Given the description of an element on the screen output the (x, y) to click on. 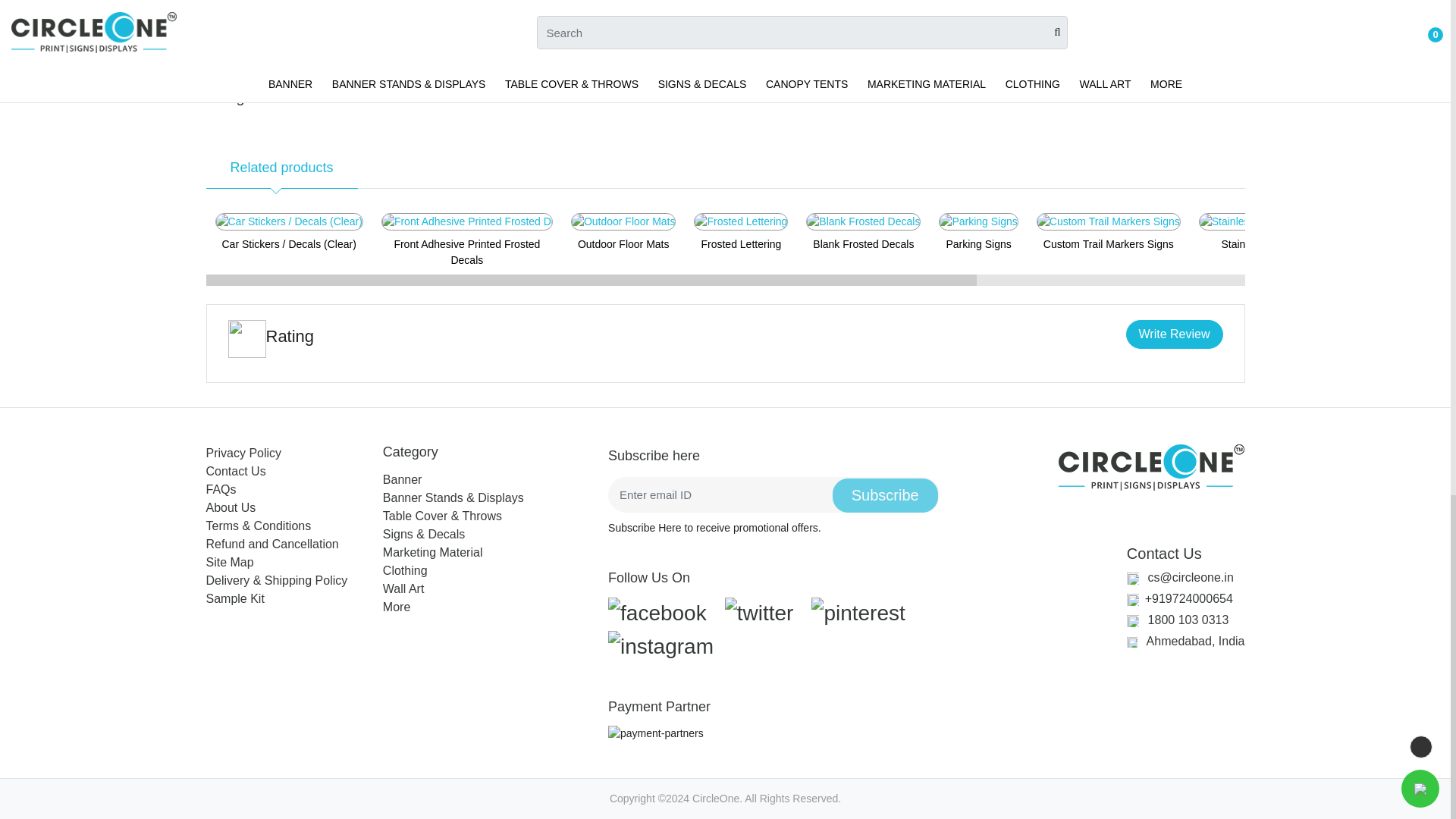
Outdoor Floor Mats (623, 221)
Front Adhesive Printed Frosted Decals (467, 221)
Frosted Lettering (740, 221)
